Given the description of an element on the screen output the (x, y) to click on. 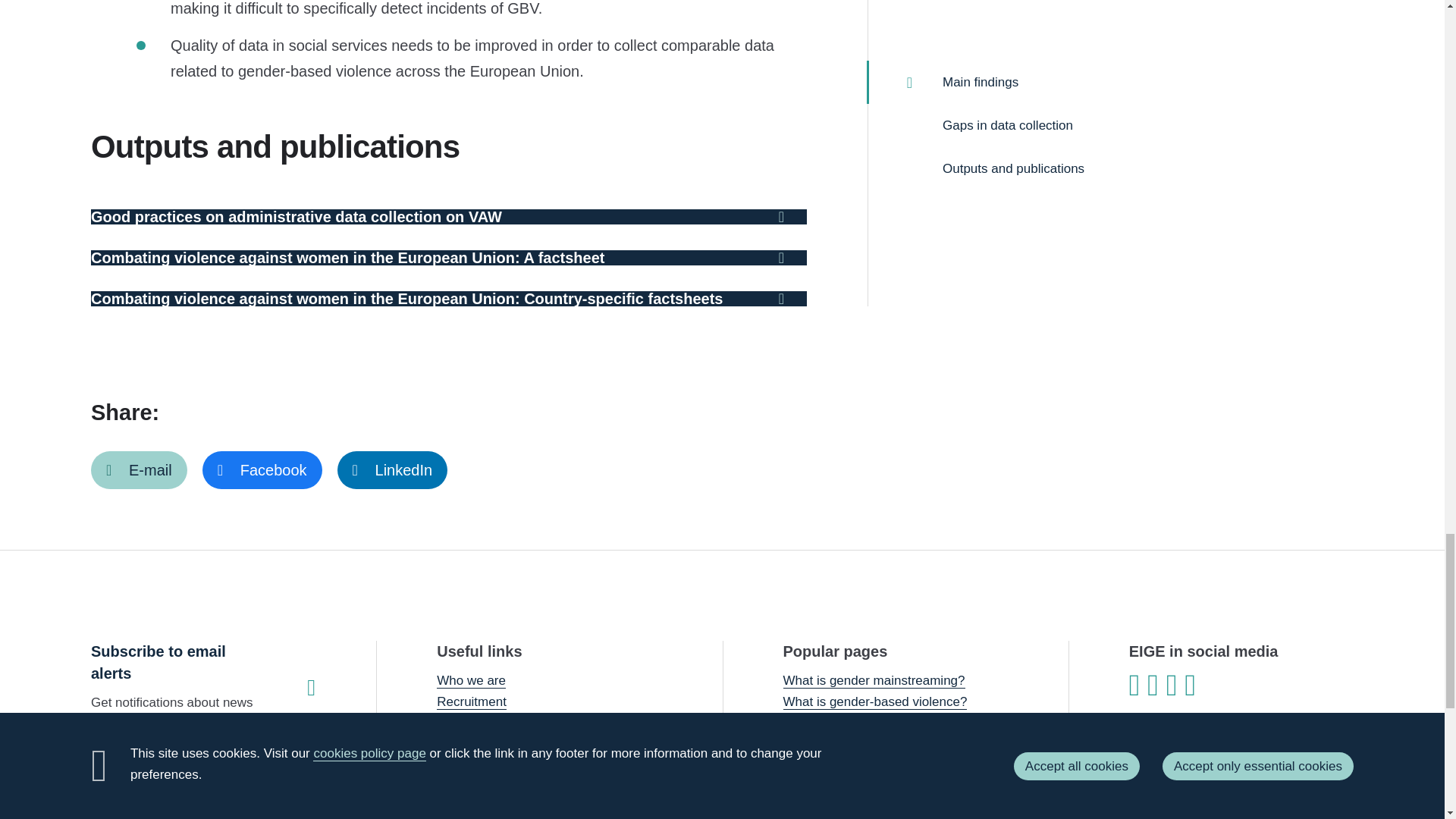
LinkedIn (392, 469)
E-mail (138, 469)
Facebook (261, 469)
